Given the description of an element on the screen output the (x, y) to click on. 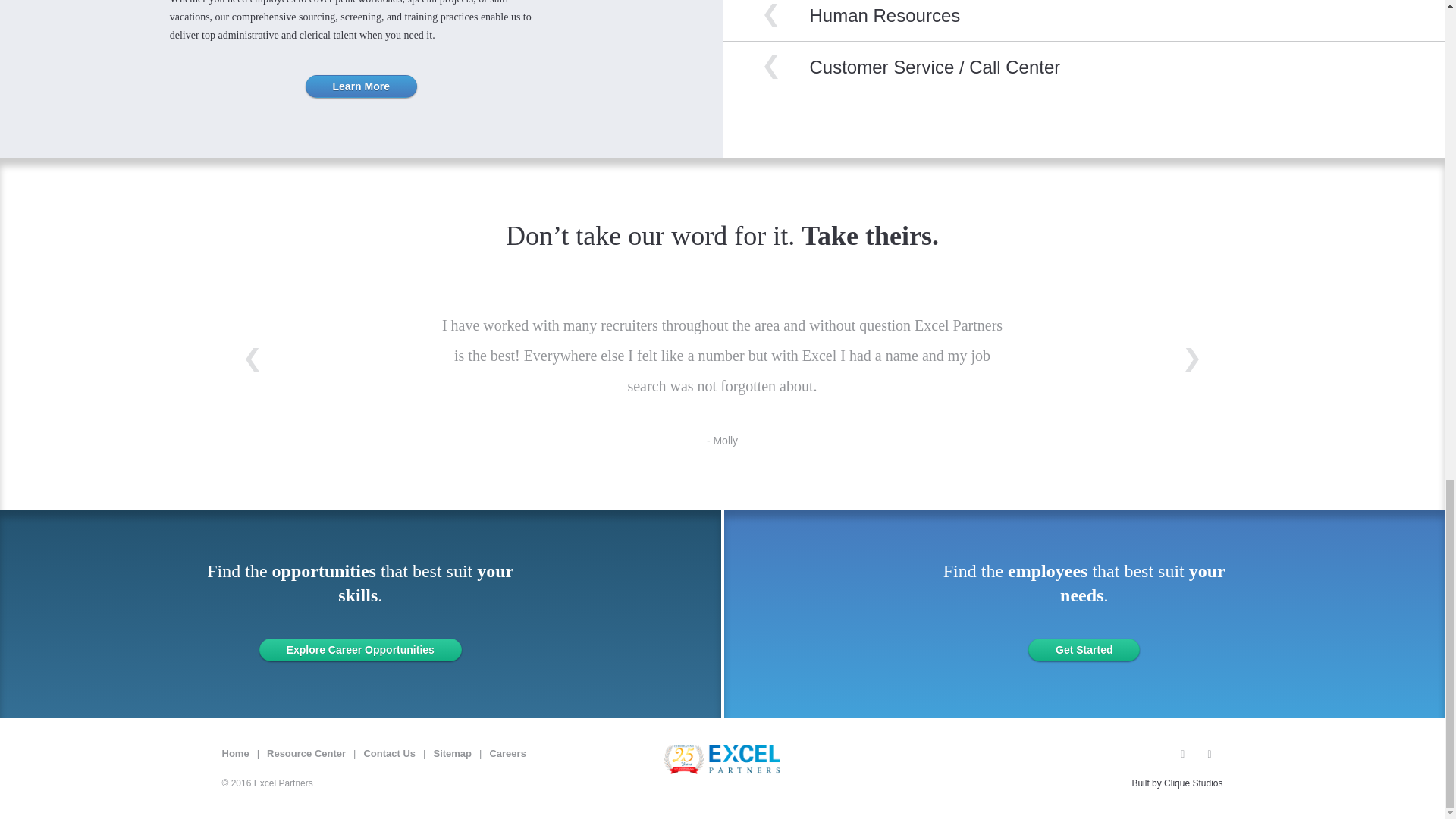
Home (234, 753)
Learn More (360, 86)
Explore Career Opportunities (360, 649)
Get Started (1083, 649)
Human Resources (884, 14)
